Given the description of an element on the screen output the (x, y) to click on. 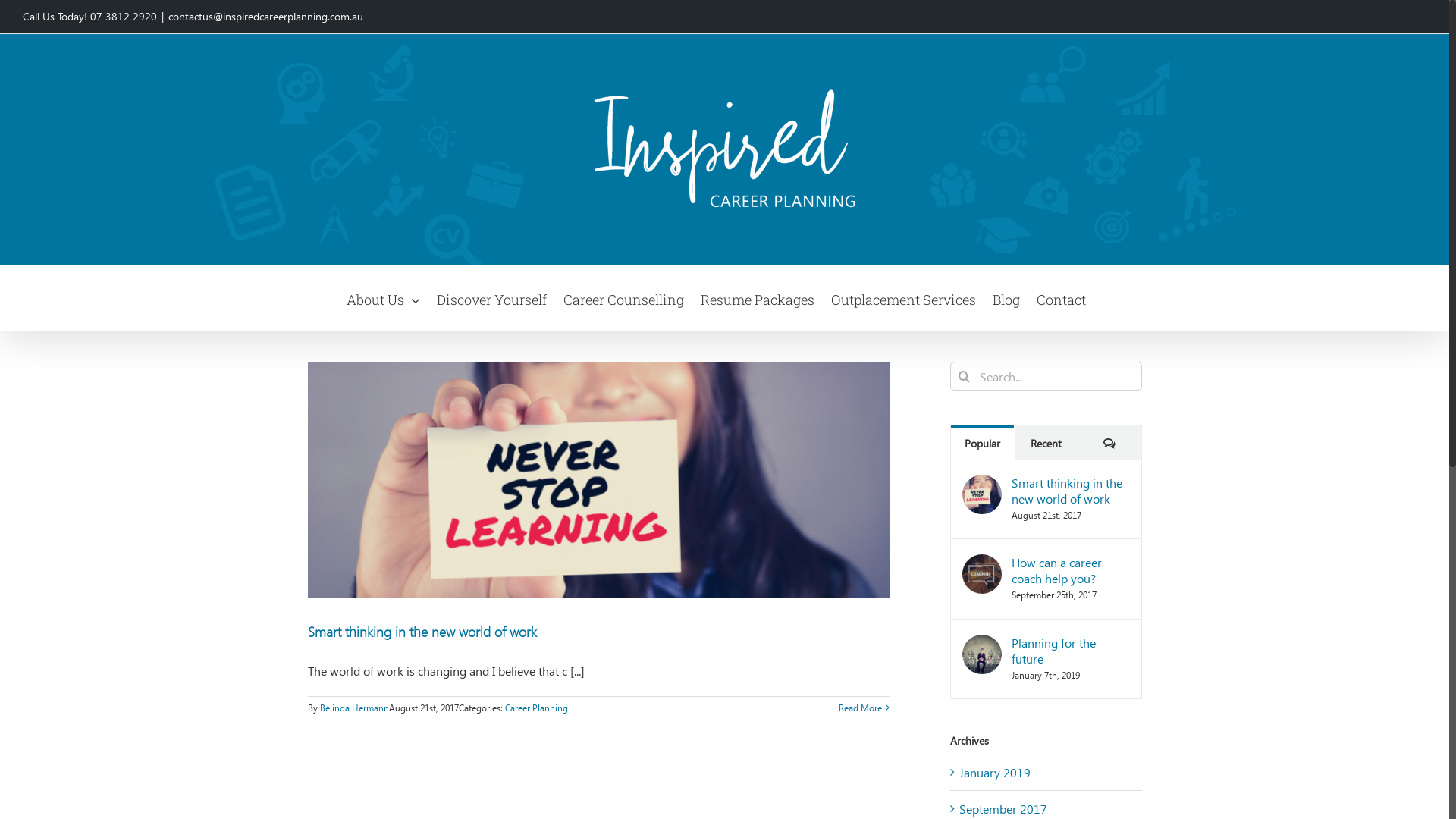
January 2019 Element type: text (993, 772)
September 2017 Element type: text (1002, 808)
Read More Element type: text (859, 707)
Career Planning Element type: text (536, 707)
Career Counselling Element type: text (623, 297)
Contact Element type: text (1060, 297)
Planning for the future Element type: text (1070, 650)
Recent Element type: text (1045, 442)
Popular Element type: text (981, 442)
contactus@inspiredcareerplanning.com.au Element type: text (265, 16)
Smart thinking in the new world of work Element type: text (1070, 490)
Outplacement Services Element type: text (903, 297)
How can a career coach help you? Element type: text (1070, 570)
Comments Element type: text (1109, 442)
Discover Yourself Element type: text (491, 297)
Smart thinking in the new world of work Element type: text (421, 630)
Belinda Hermann Element type: text (354, 707)
Blog Element type: text (1005, 297)
Resume Packages Element type: text (757, 297)
About Us Element type: text (383, 297)
